Given the description of an element on the screen output the (x, y) to click on. 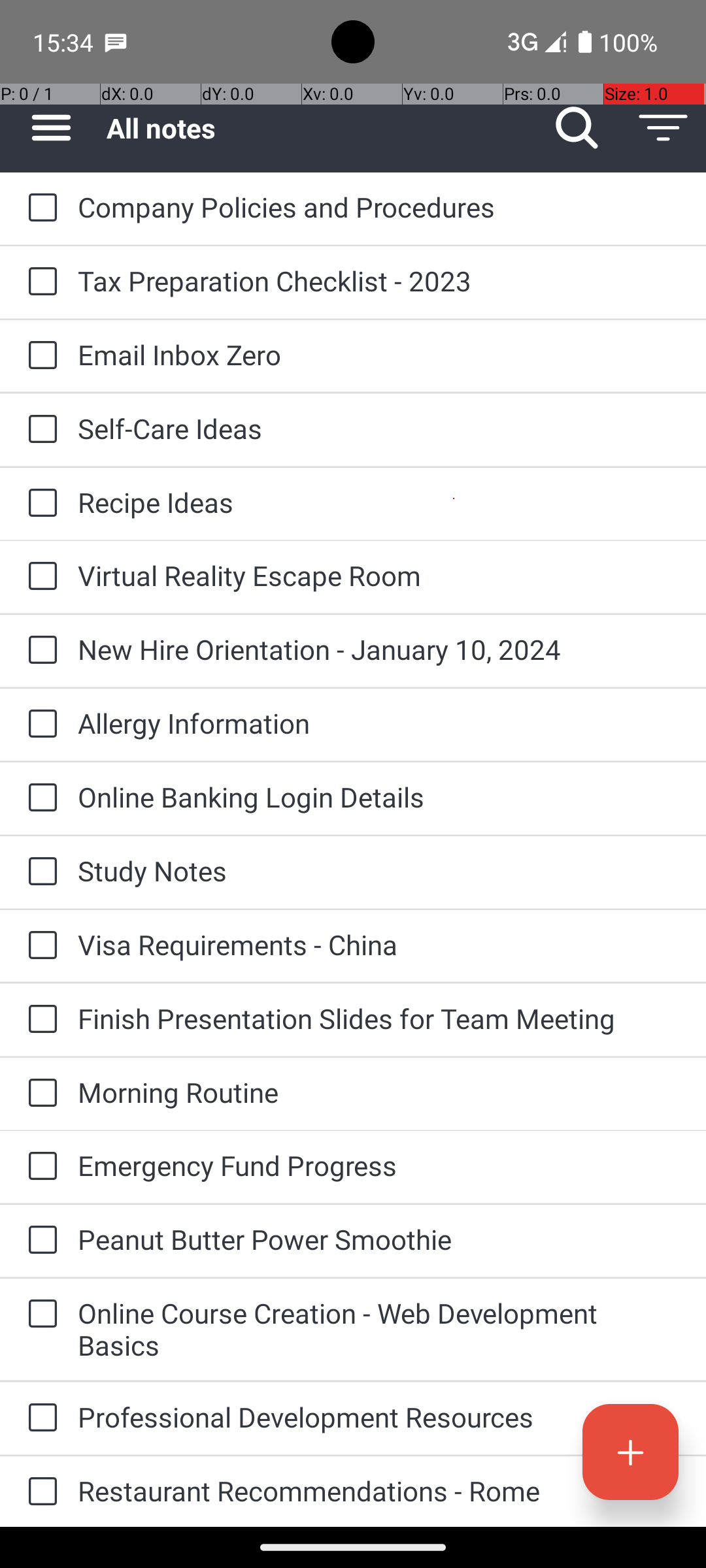
to-do: Company Policies and Procedures Element type: android.widget.CheckBox (38, 208)
Company Policies and Procedures Element type: android.widget.TextView (378, 206)
to-do: Tax Preparation Checklist - 2023 Element type: android.widget.CheckBox (38, 282)
Tax Preparation Checklist - 2023 Element type: android.widget.TextView (378, 280)
to-do: Email Inbox Zero Element type: android.widget.CheckBox (38, 356)
Email Inbox Zero Element type: android.widget.TextView (378, 354)
to-do: Self-Care Ideas Element type: android.widget.CheckBox (38, 429)
Self-Care Ideas Element type: android.widget.TextView (378, 427)
to-do: Recipe Ideas Element type: android.widget.CheckBox (38, 503)
Recipe Ideas Element type: android.widget.TextView (378, 501)
to-do: Virtual Reality Escape Room Element type: android.widget.CheckBox (38, 576)
Virtual Reality Escape Room Element type: android.widget.TextView (378, 574)
to-do: New Hire Orientation - January 10, 2024 Element type: android.widget.CheckBox (38, 650)
New Hire Orientation - January 10, 2024 Element type: android.widget.TextView (378, 648)
to-do: Allergy Information Element type: android.widget.CheckBox (38, 724)
Allergy Information Element type: android.widget.TextView (378, 722)
to-do: Online Banking Login Details Element type: android.widget.CheckBox (38, 798)
Online Banking Login Details Element type: android.widget.TextView (378, 796)
to-do: Study Notes Element type: android.widget.CheckBox (38, 872)
Study Notes Element type: android.widget.TextView (378, 870)
to-do: Visa Requirements - China Element type: android.widget.CheckBox (38, 945)
Visa Requirements - China Element type: android.widget.TextView (378, 944)
to-do: Finish Presentation Slides for Team Meeting Element type: android.widget.CheckBox (38, 1019)
Finish Presentation Slides for Team Meeting Element type: android.widget.TextView (378, 1017)
to-do: Morning Routine Element type: android.widget.CheckBox (38, 1093)
Morning Routine Element type: android.widget.TextView (378, 1091)
to-do: Emergency Fund Progress Element type: android.widget.CheckBox (38, 1166)
Emergency Fund Progress Element type: android.widget.TextView (378, 1164)
to-do: Peanut Butter Power Smoothie Element type: android.widget.CheckBox (38, 1240)
Peanut Butter Power Smoothie Element type: android.widget.TextView (378, 1238)
to-do: Online Course Creation - Web Development Basics Element type: android.widget.CheckBox (38, 1314)
Online Course Creation - Web Development Basics Element type: android.widget.TextView (378, 1328)
to-do: Professional Development Resources Element type: android.widget.CheckBox (38, 1418)
Professional Development Resources Element type: android.widget.TextView (378, 1416)
to-do: Restaurant Recommendations - Rome Element type: android.widget.CheckBox (38, 1491)
Restaurant Recommendations - Rome Element type: android.widget.TextView (378, 1490)
